Given the description of an element on the screen output the (x, y) to click on. 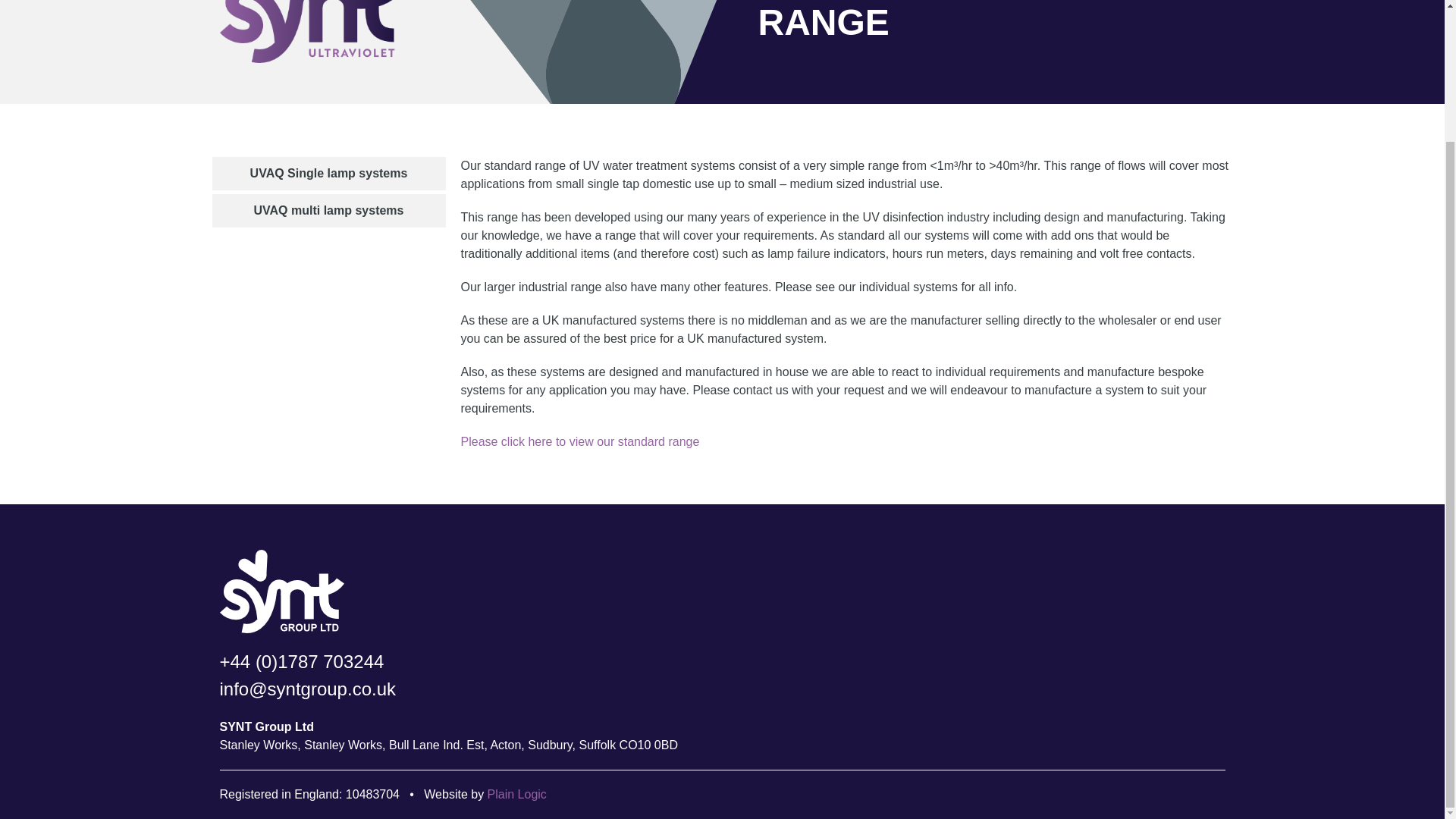
Please click here to view our standard range (580, 440)
UVAQ Single lamp systems (328, 173)
UVAQ multi lamp systems (328, 210)
Plain Logic (517, 793)
